Given the description of an element on the screen output the (x, y) to click on. 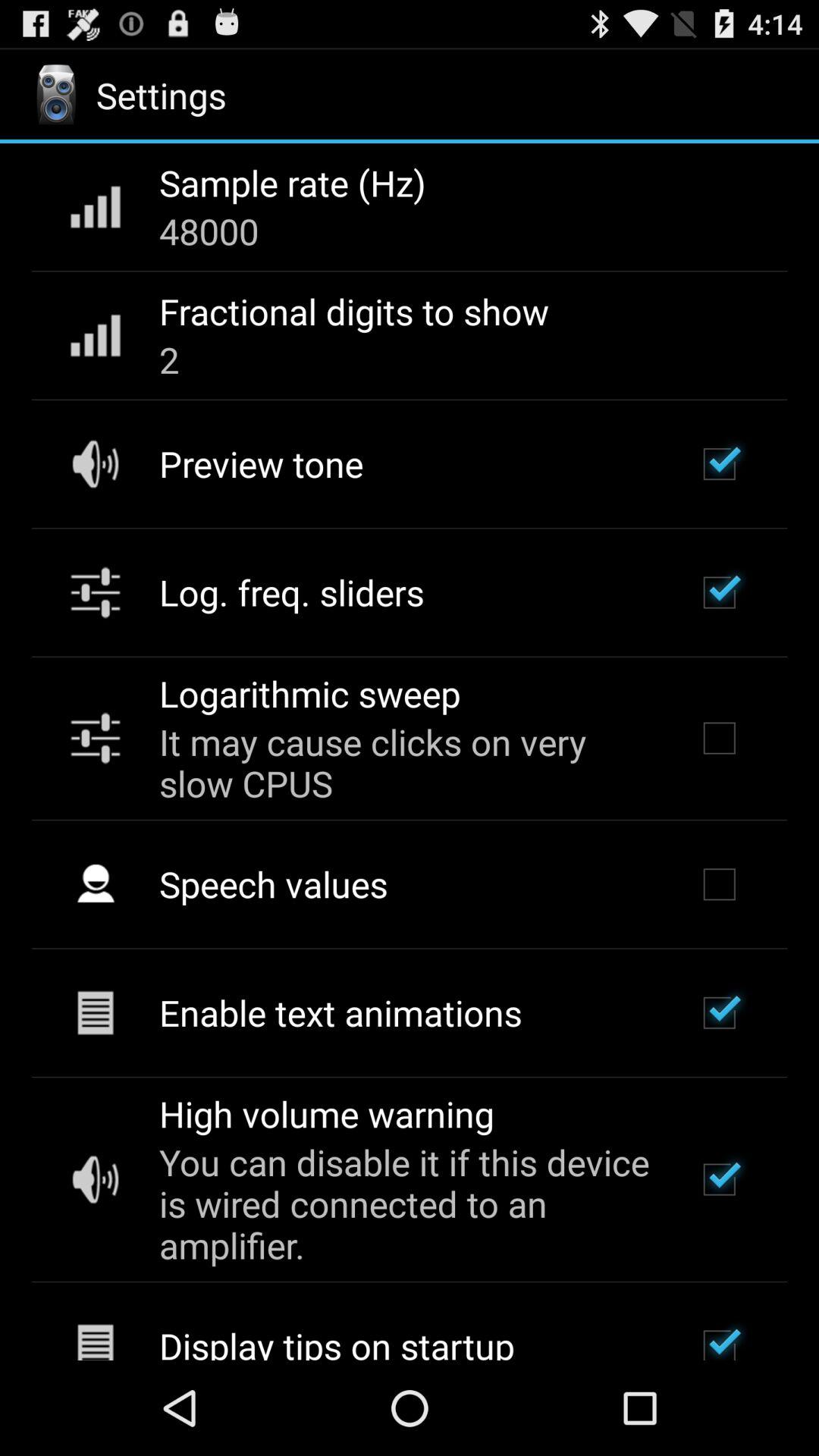
tap the it may cause app (407, 762)
